Given the description of an element on the screen output the (x, y) to click on. 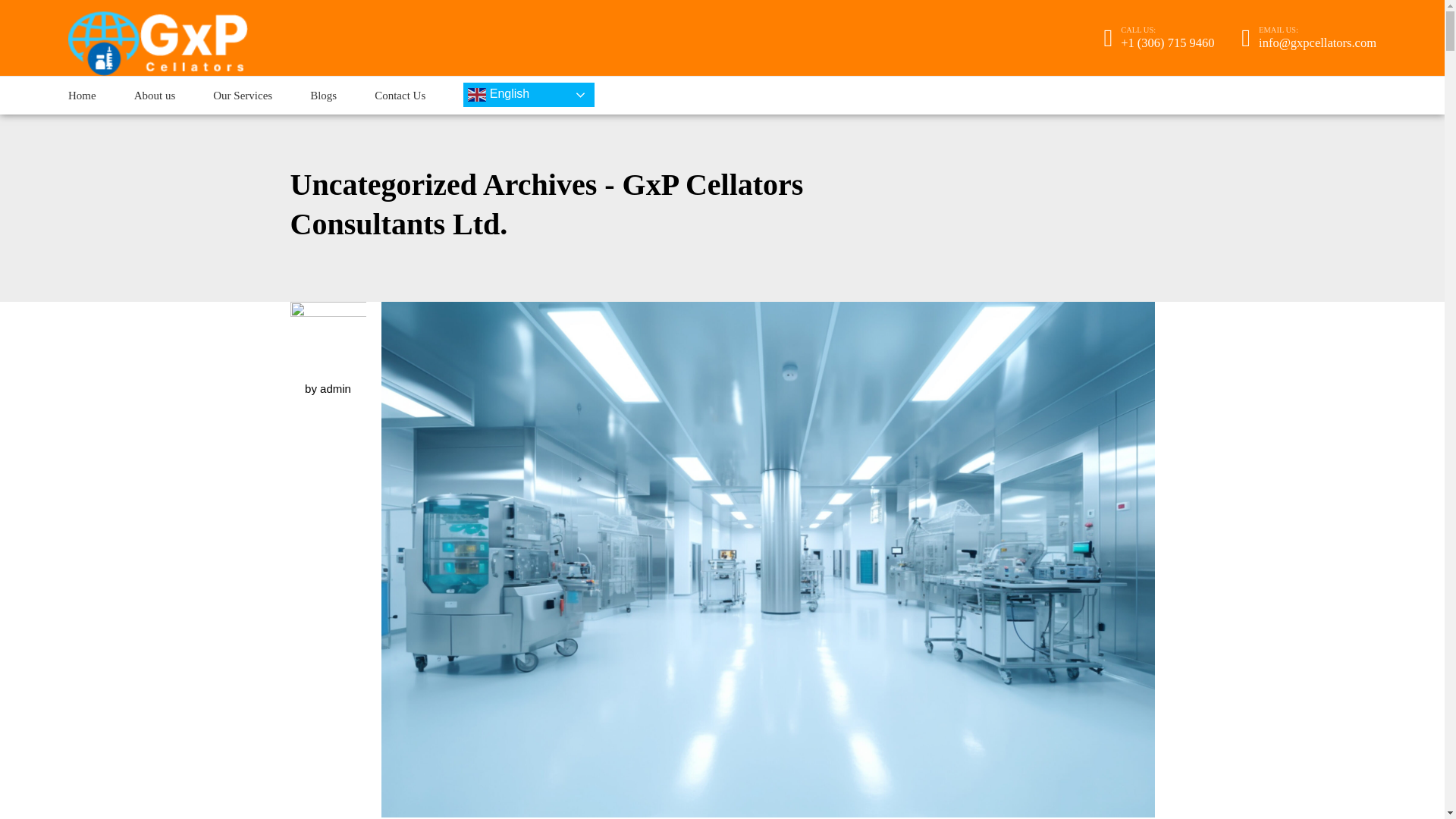
About us (154, 95)
English (528, 94)
by admin (327, 388)
Contact Us (399, 95)
Our Services (242, 95)
